Given the description of an element on the screen output the (x, y) to click on. 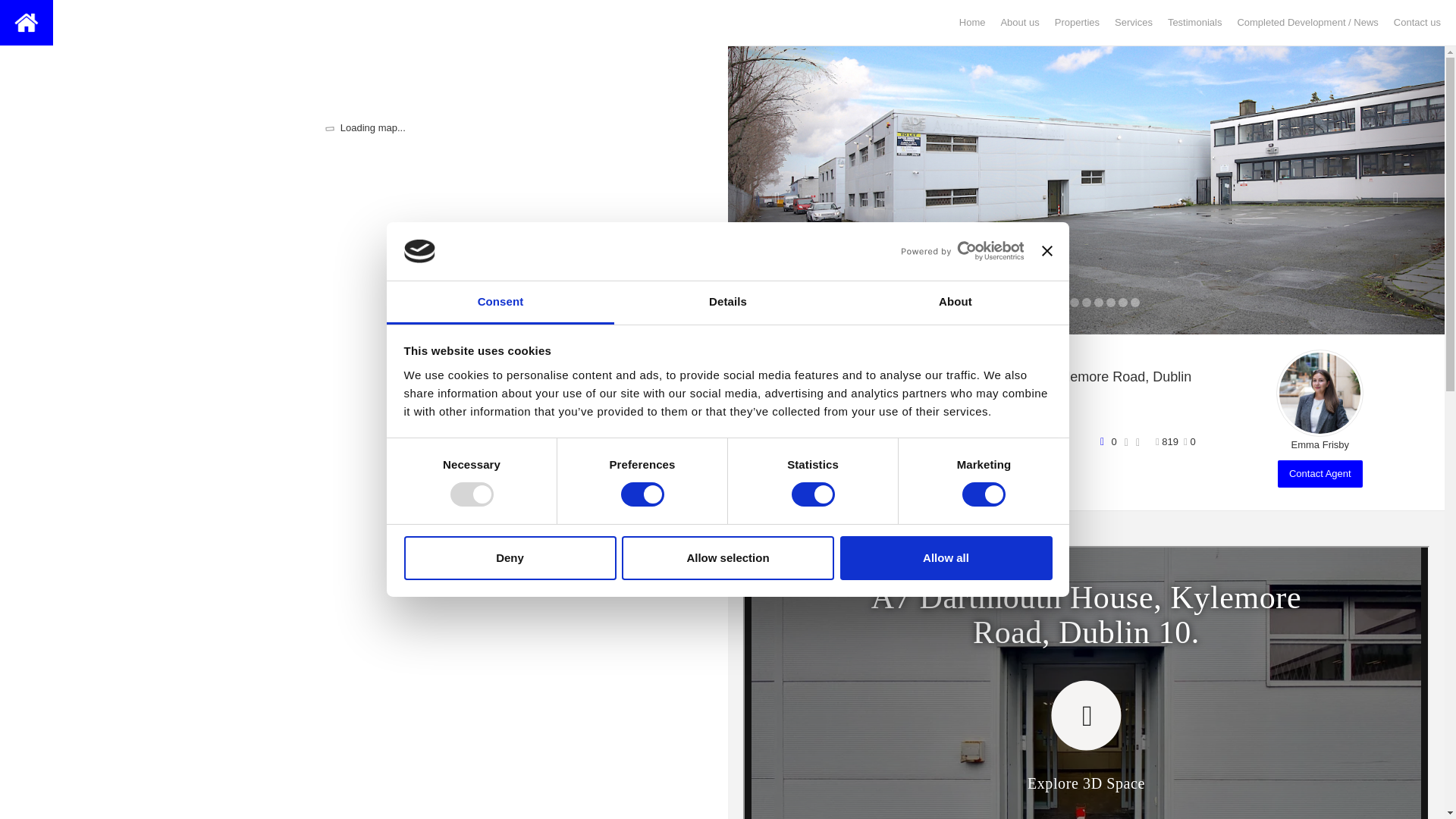
Properties (1076, 22)
Deny (509, 557)
Consent (500, 302)
Details (727, 302)
Allow selection (727, 557)
About (954, 302)
Contact us (1417, 22)
Testimonials (1195, 22)
Allow all (946, 557)
